Given the description of an element on the screen output the (x, y) to click on. 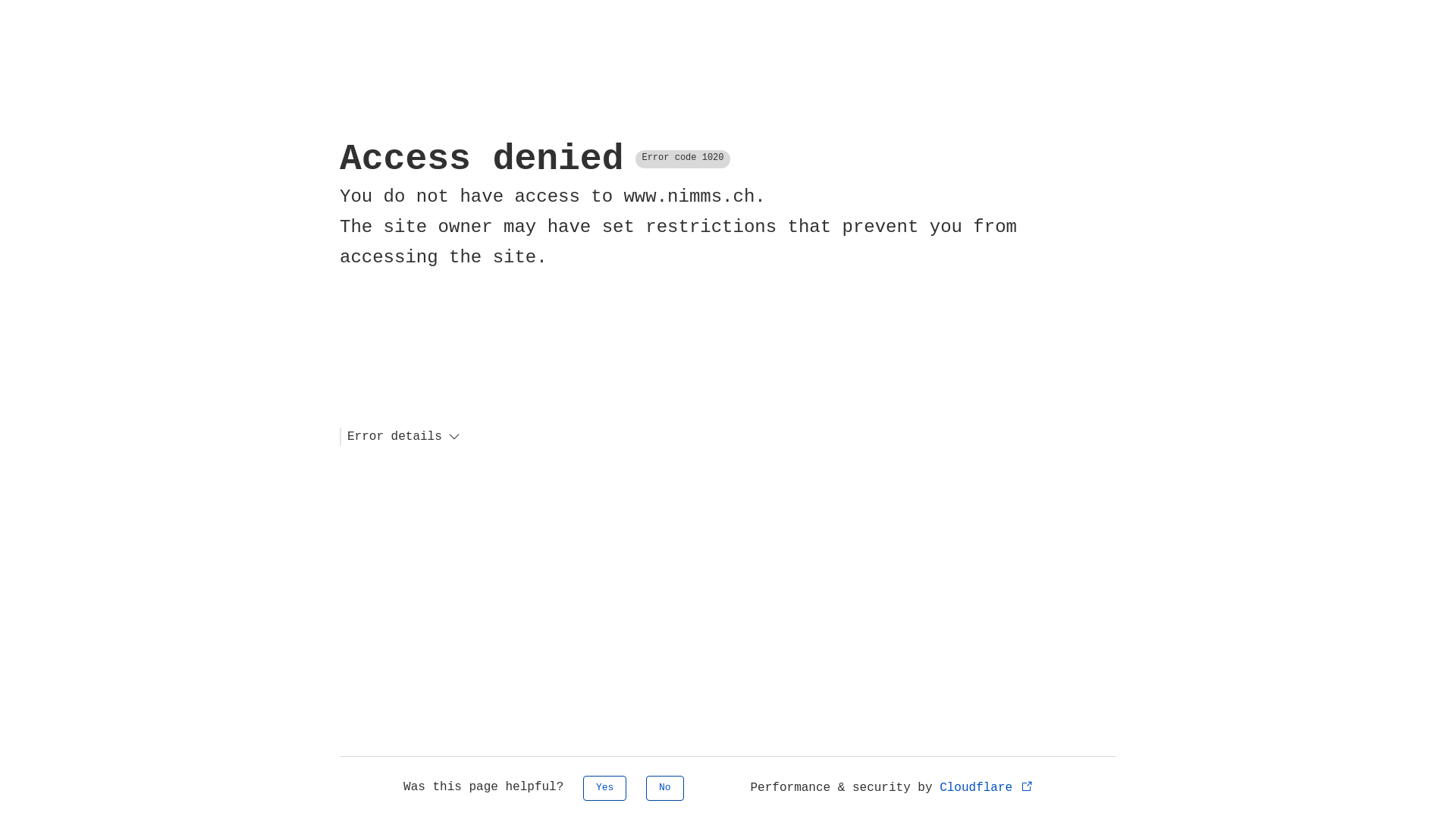
Yes Element type: text (604, 787)
No Element type: text (665, 787)
Opens in new tab Element type: hover (1027, 785)
Cloudflare Element type: text (986, 787)
